Given the description of an element on the screen output the (x, y) to click on. 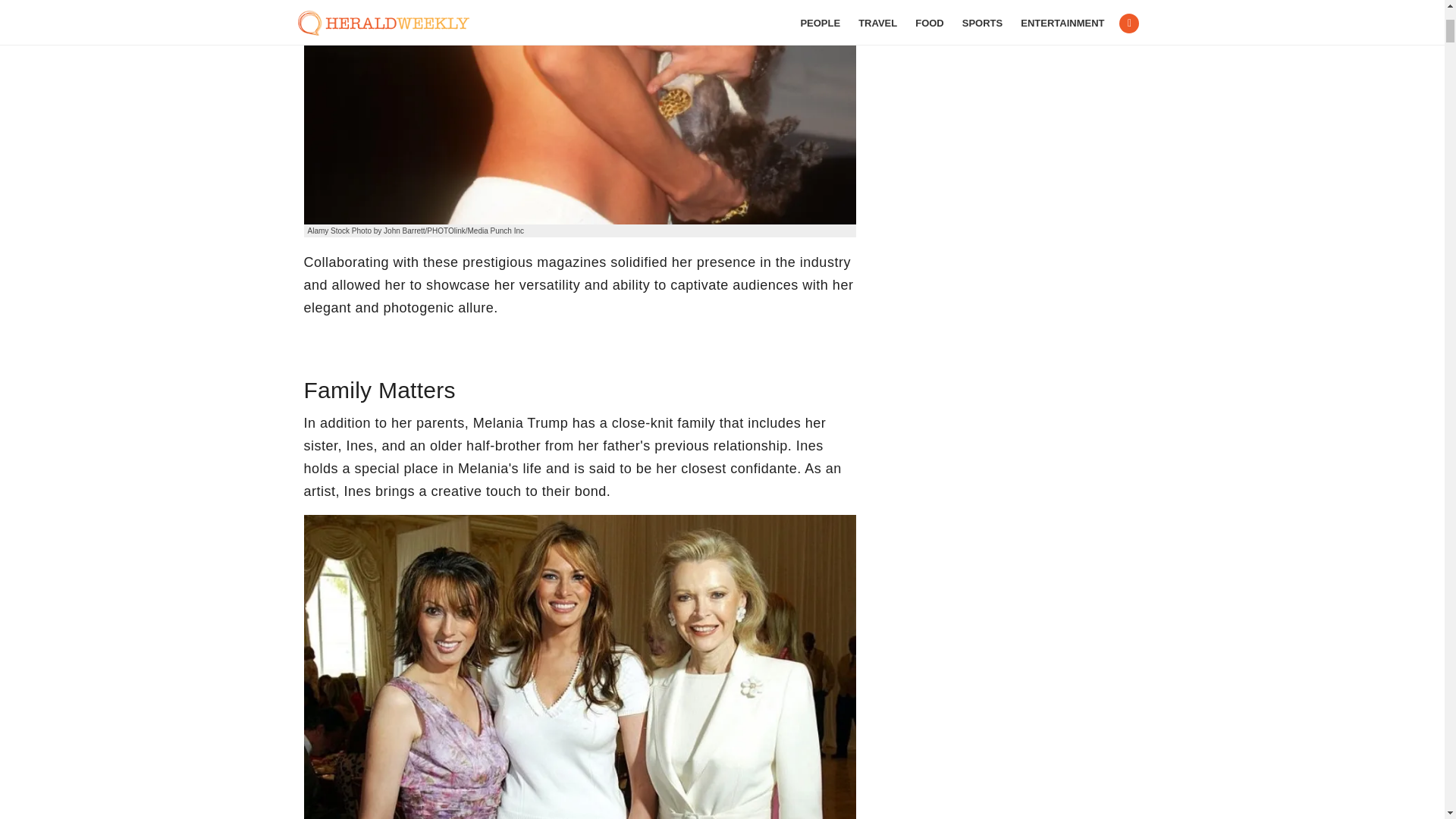
Made for Modeling (579, 112)
